Given the description of an element on the screen output the (x, y) to click on. 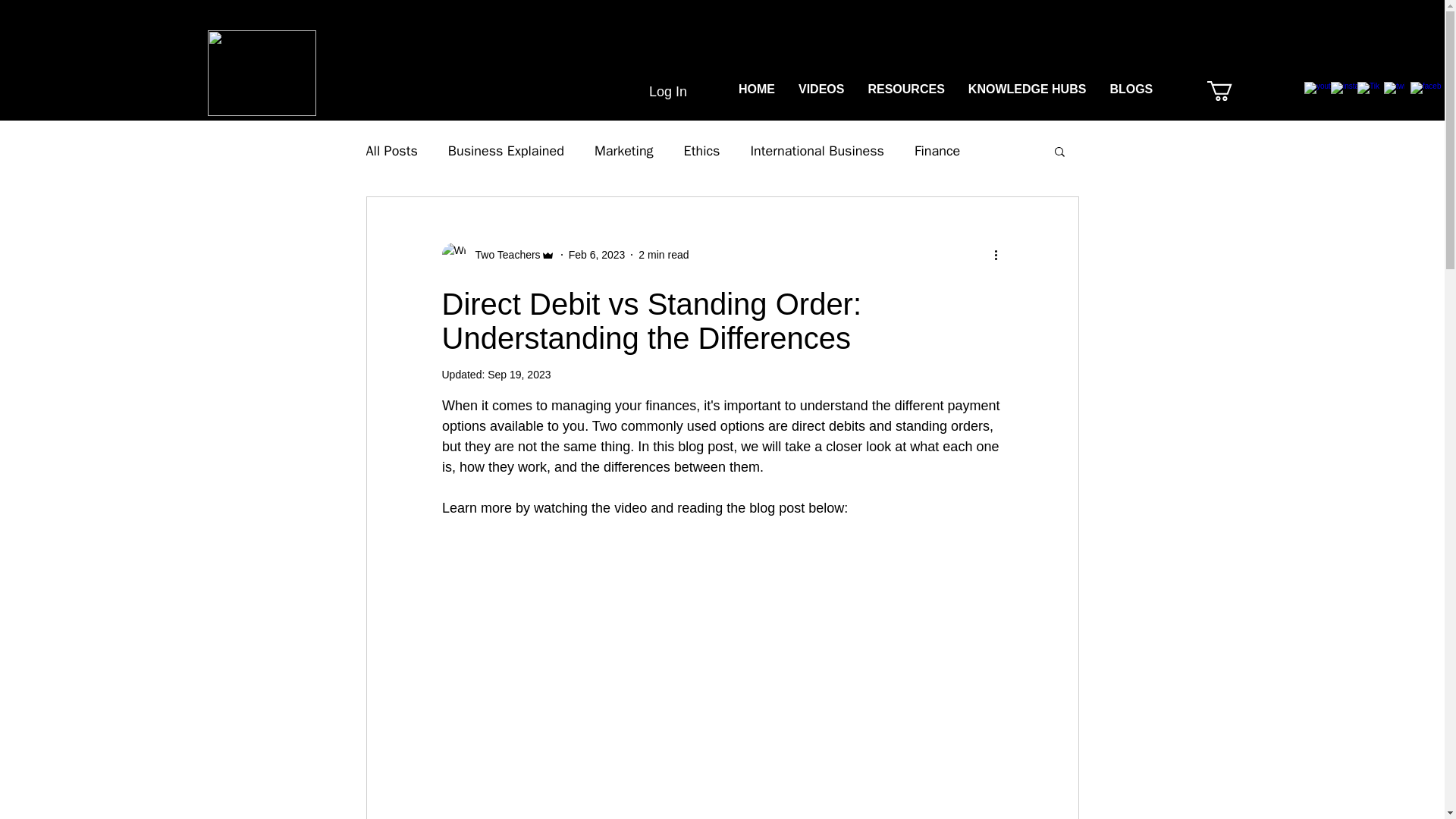
Copy of Edexcel GCSE Topic 2.2 (1269, 91)
VIDEOS (821, 91)
All Posts (390, 150)
KNOWLEDGE HUBS (1026, 91)
2 min read (663, 254)
Two Teachers (502, 254)
BLOGS (1130, 91)
Business Explained (506, 150)
RESOURCES (905, 91)
Log In (652, 92)
Marketing (623, 150)
International Business (816, 150)
Sep 19, 2023 (518, 374)
Finance (936, 150)
Two Teachers (497, 254)
